Given the description of an element on the screen output the (x, y) to click on. 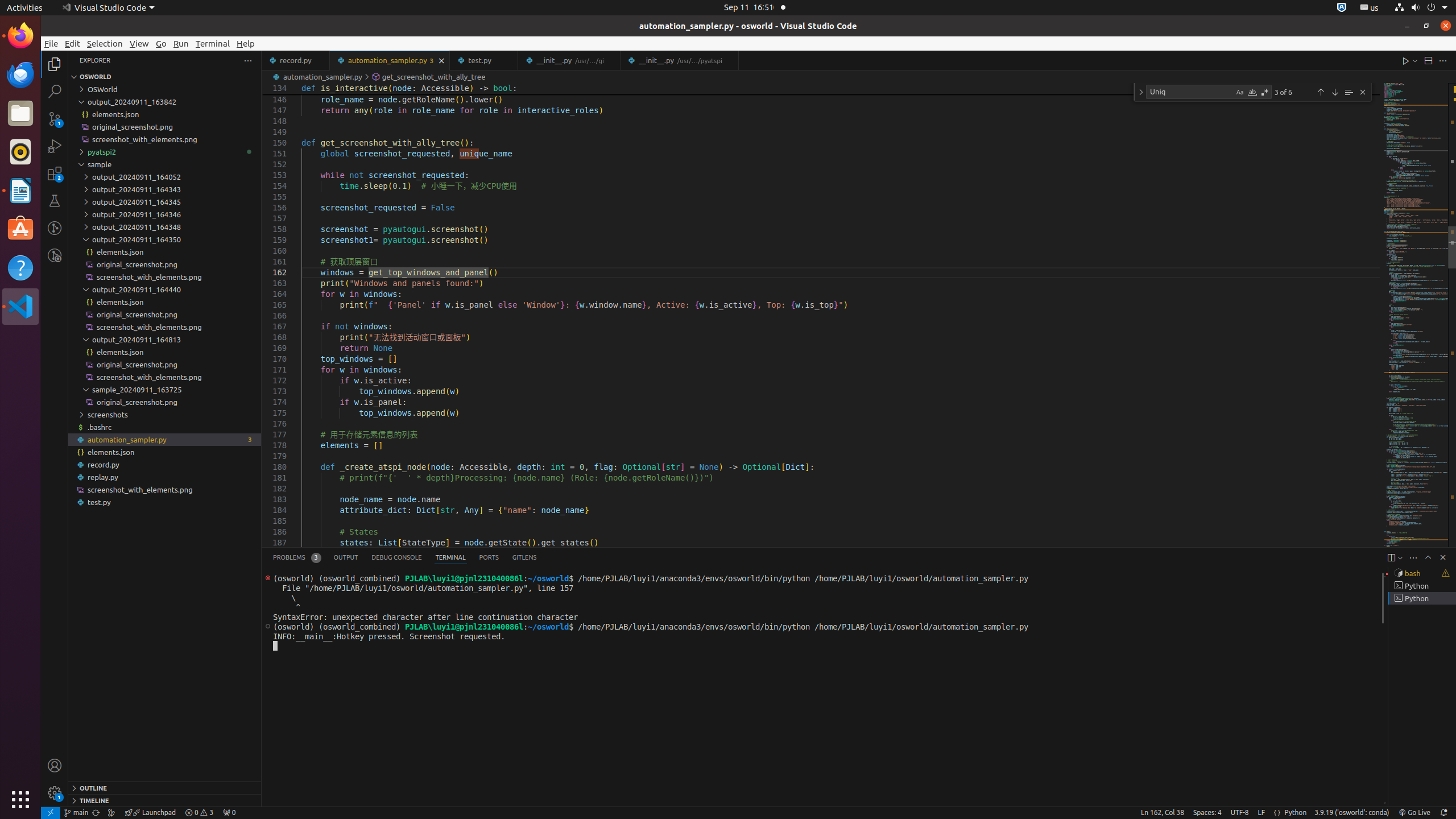
Explorer Section: osworld Element type: push-button (164, 76)
3.9.19 ('osworld': conda), ~/anaconda3/envs/osworld/bin/python Element type: push-button (1351, 812)
Ln 162, Col 38 Element type: push-button (1162, 812)
:1.21/StatusNotifierItem Element type: menu (1369, 7)
Views and More Actions... Element type: push-button (1413, 557)
